Given the description of an element on the screen output the (x, y) to click on. 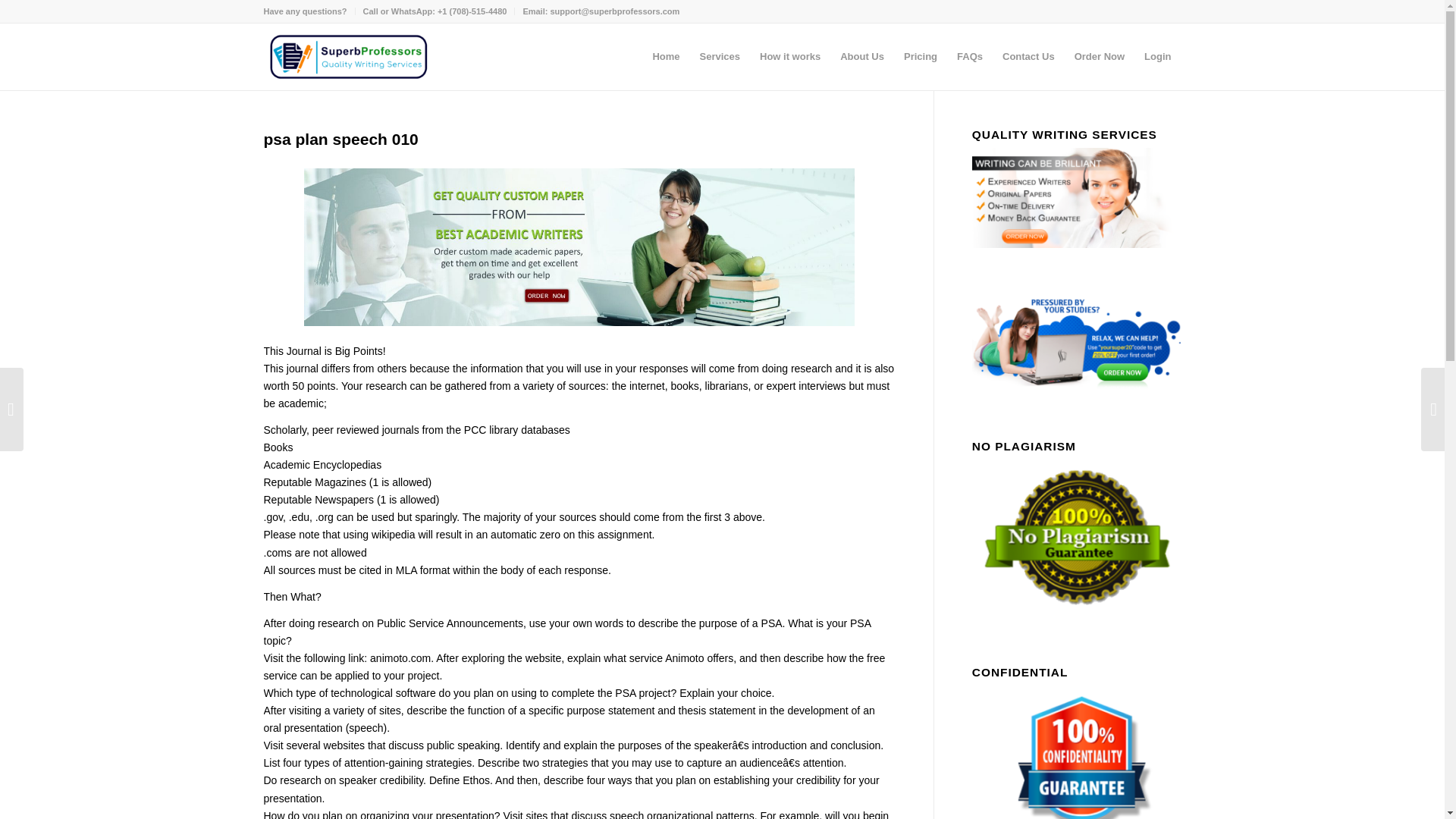
Contact Us (1028, 56)
psa plan speech 010 (341, 139)
Order Now (1099, 56)
Permanent Link: psa plan speech 010 (341, 139)
Services (720, 56)
Have any questions? (305, 11)
How it works (789, 56)
About Us (861, 56)
